Given the description of an element on the screen output the (x, y) to click on. 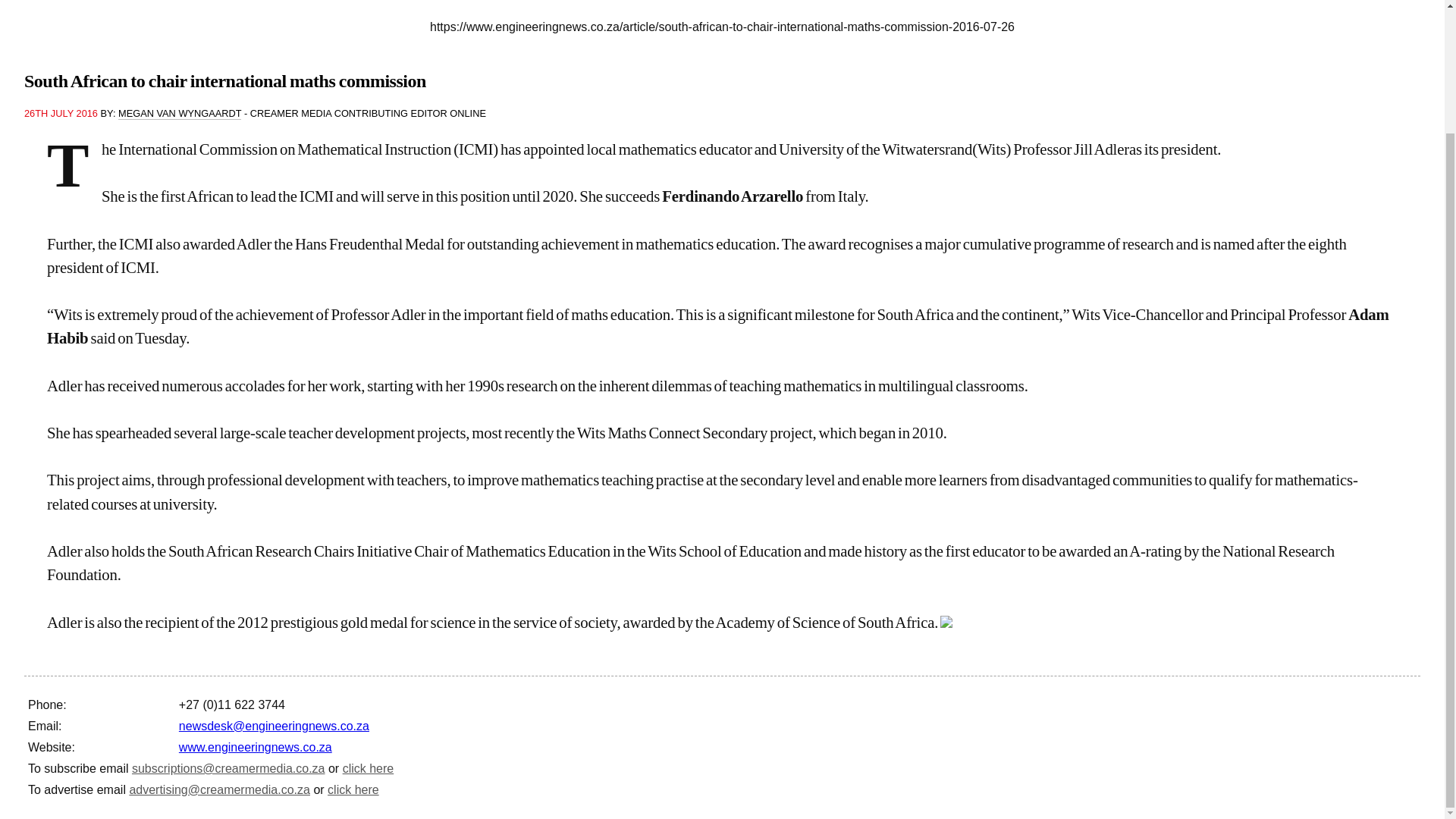
click here (352, 789)
www.engineeringnews.co.za (255, 747)
click here (368, 768)
